Given the description of an element on the screen output the (x, y) to click on. 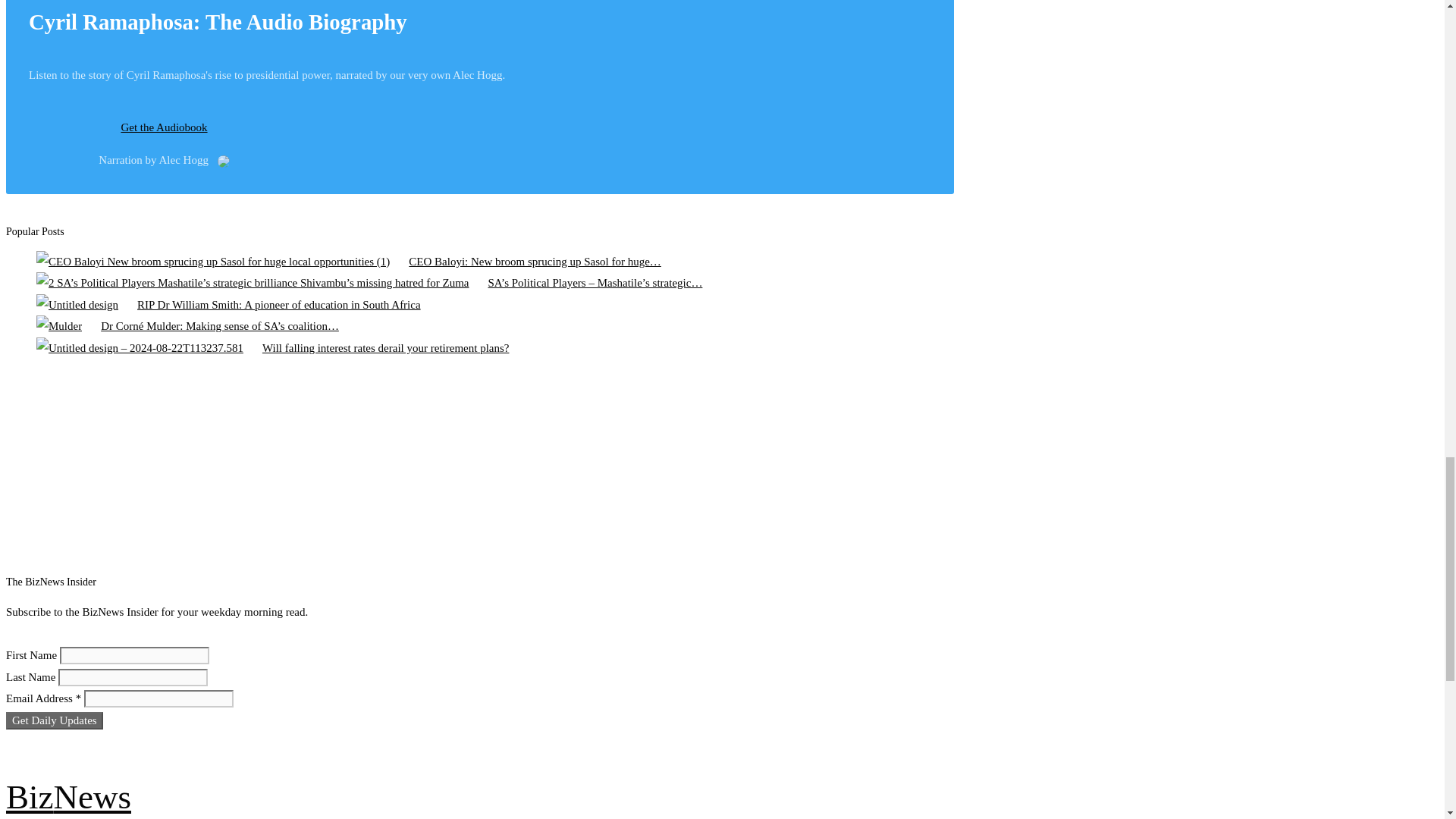
Will falling interest rates derail your retirement plans? (139, 348)
RIP Dr William Smith: A pioneer of education in South Africa (76, 305)
Spotify Embed: BizNews Radio (464, 468)
BizNews (68, 796)
Get Daily Updates (54, 720)
